Given the description of an element on the screen output the (x, y) to click on. 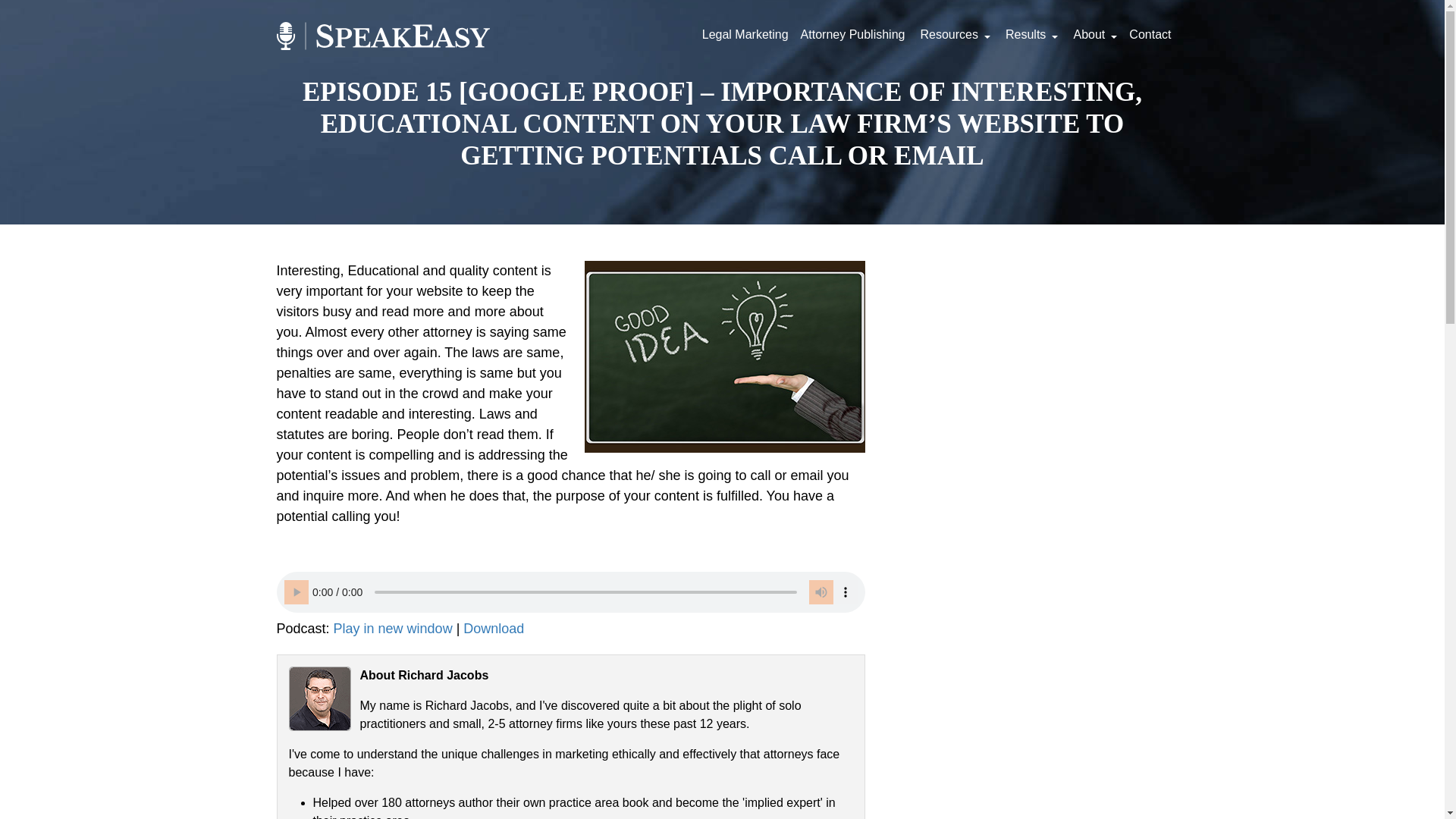
About (1093, 34)
Resources (953, 34)
Download (493, 628)
Play in new window (392, 628)
Legal Marketing (744, 34)
Results (1029, 34)
Contact (1149, 34)
Attorney Publishing (852, 34)
